Given the description of an element on the screen output the (x, y) to click on. 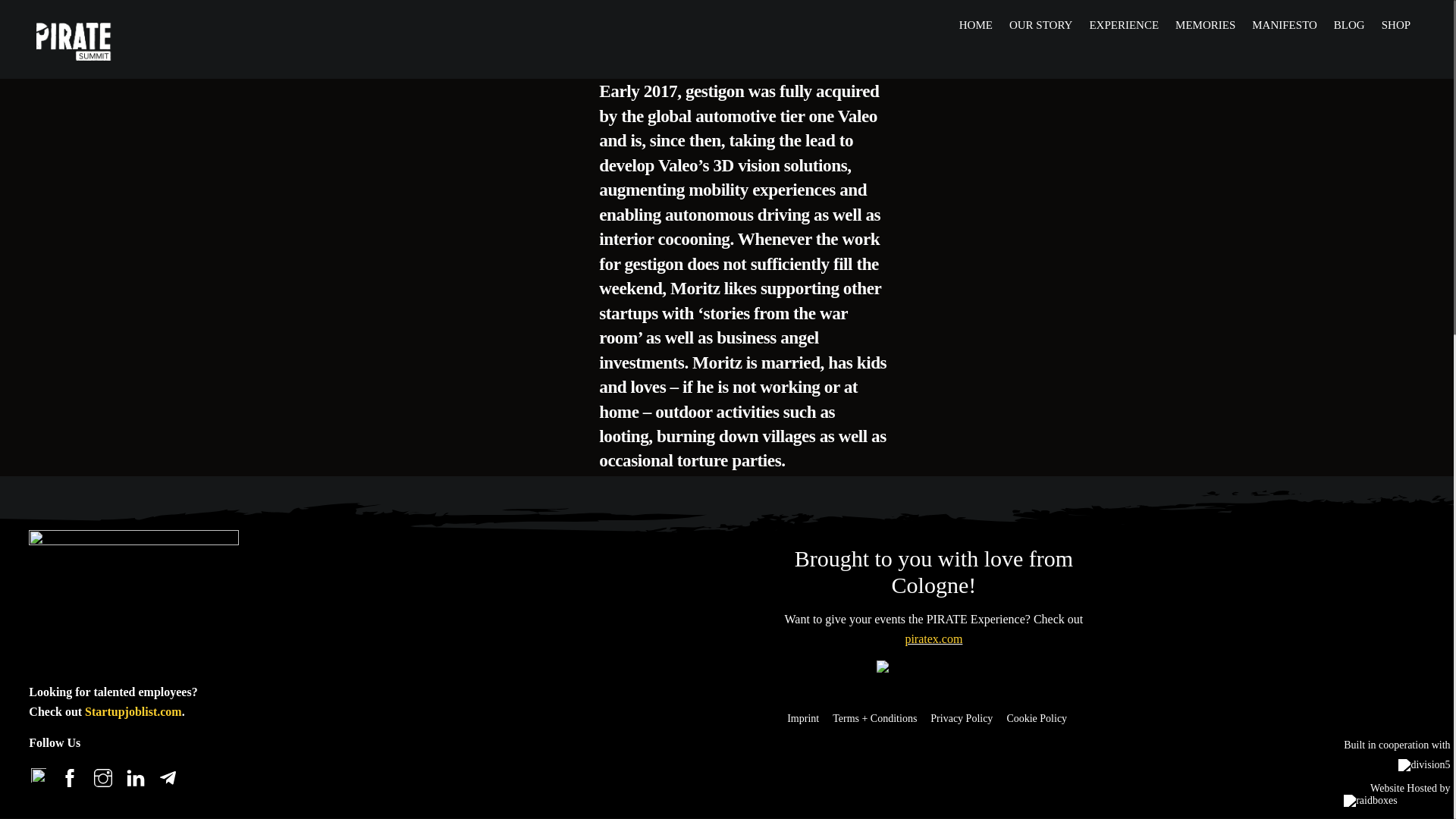
Privacy Policy  (968, 718)
Privacy Policy (968, 718)
piratex.com (933, 638)
Startupjoblist.com (133, 711)
Cookie Policy  (1043, 718)
Cookie Policy (1043, 718)
Imprint (809, 718)
